Given the description of an element on the screen output the (x, y) to click on. 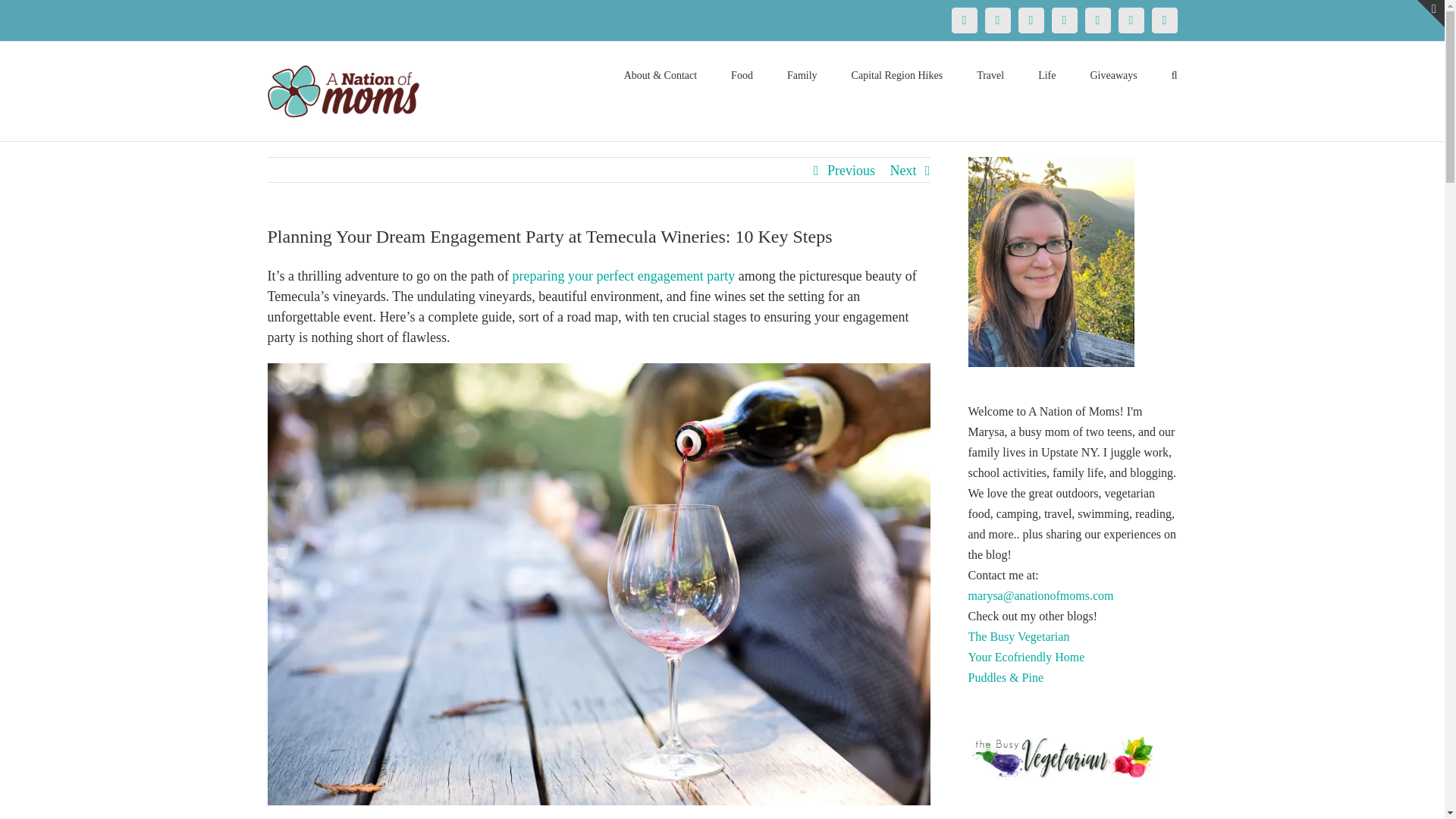
Twitter (997, 20)
Instagram (1064, 20)
Pinterest (1030, 20)
Email (1163, 20)
Email (1163, 20)
YouTube (1096, 20)
Capital Region Hikes (897, 74)
YouTube (1096, 20)
Facebook (963, 20)
Facebook (963, 20)
